Given the description of an element on the screen output the (x, y) to click on. 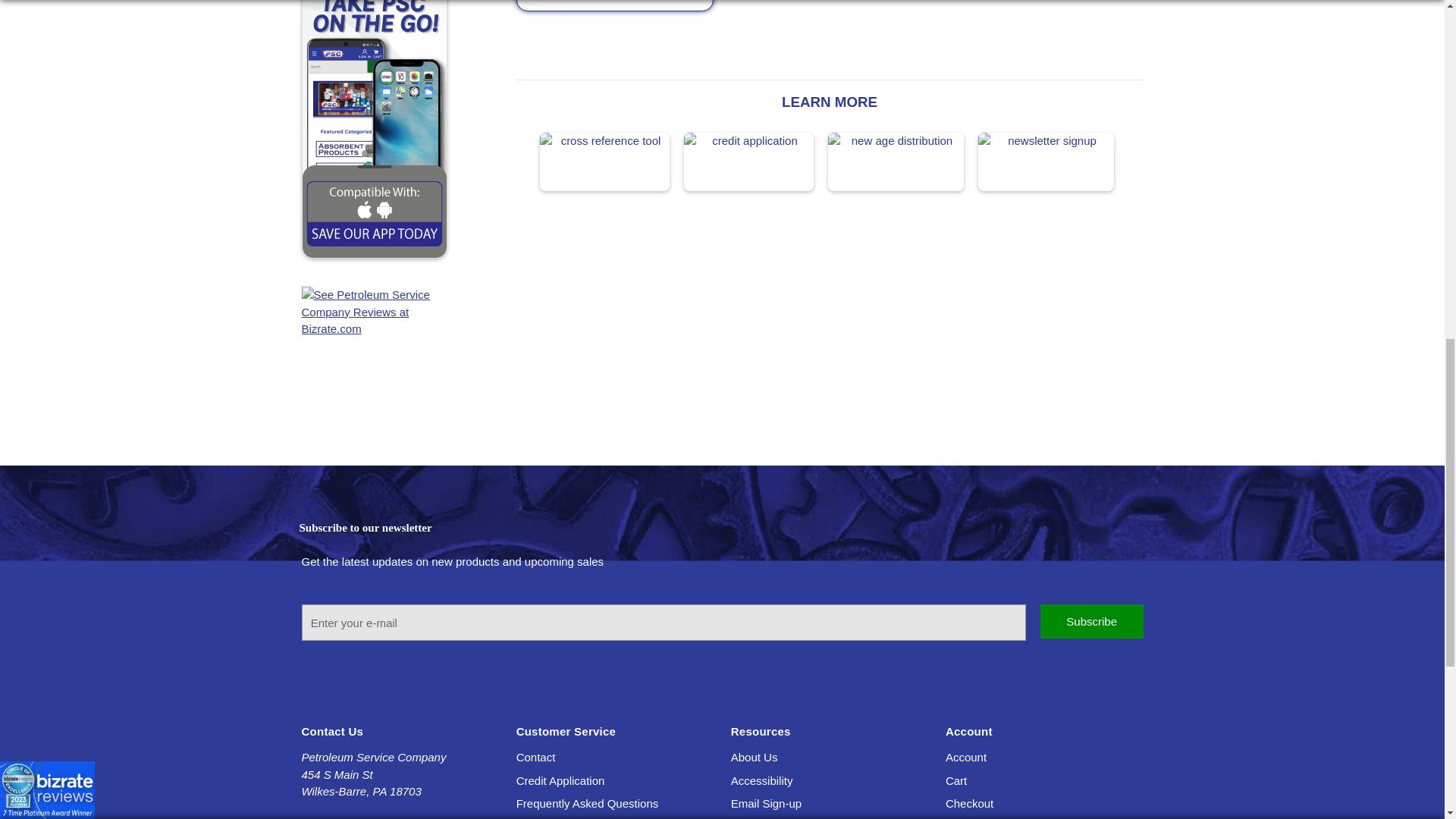
accessibility (761, 780)
credit application (560, 780)
Subscribe (1091, 621)
contact (536, 757)
frequently asked questions (587, 802)
See Petroleum Service Company Reviews at Bizrate.com (400, 328)
email sign-up (766, 802)
about us (753, 757)
